Given the description of an element on the screen output the (x, y) to click on. 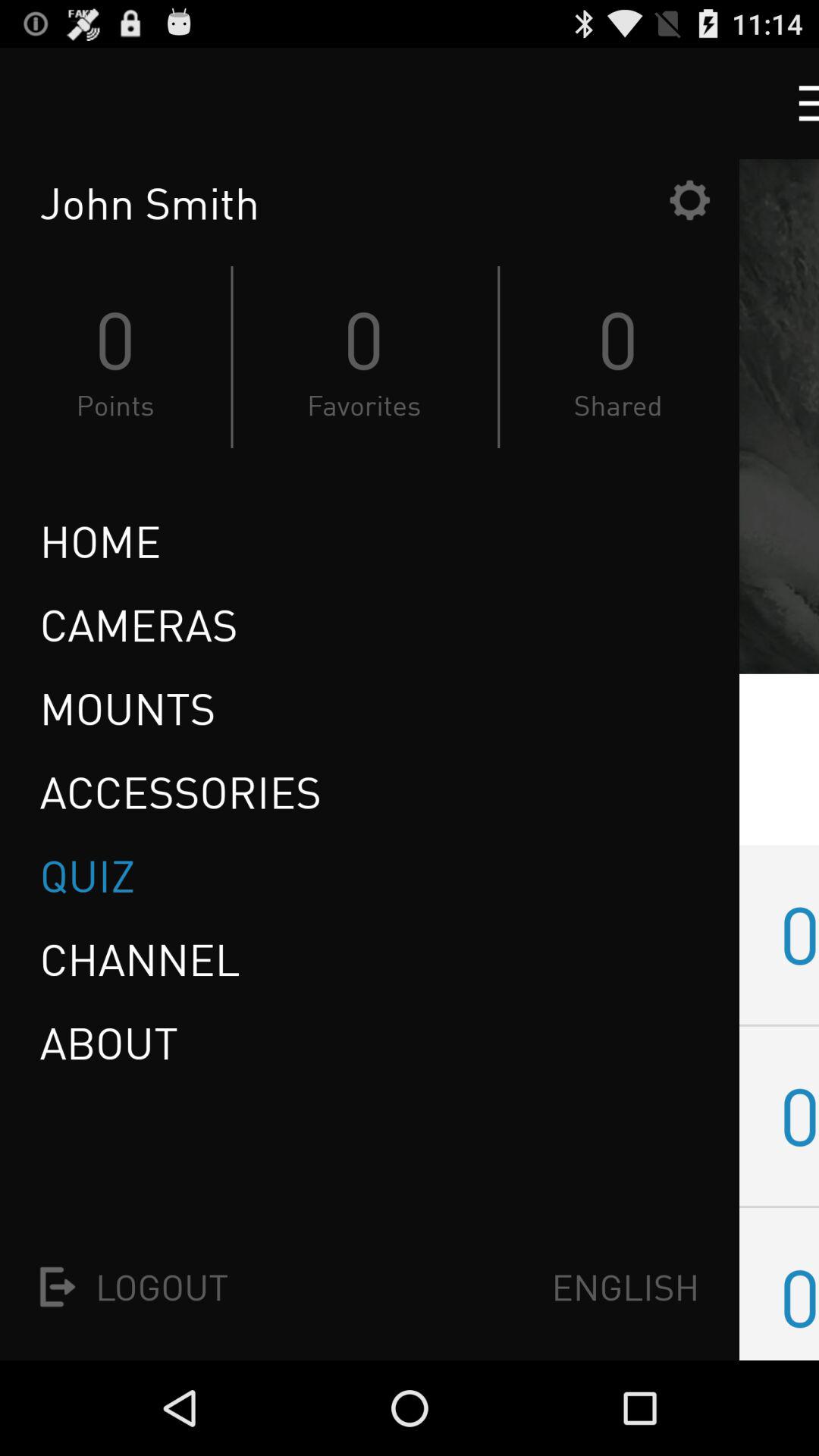
settings (689, 199)
